Given the description of an element on the screen output the (x, y) to click on. 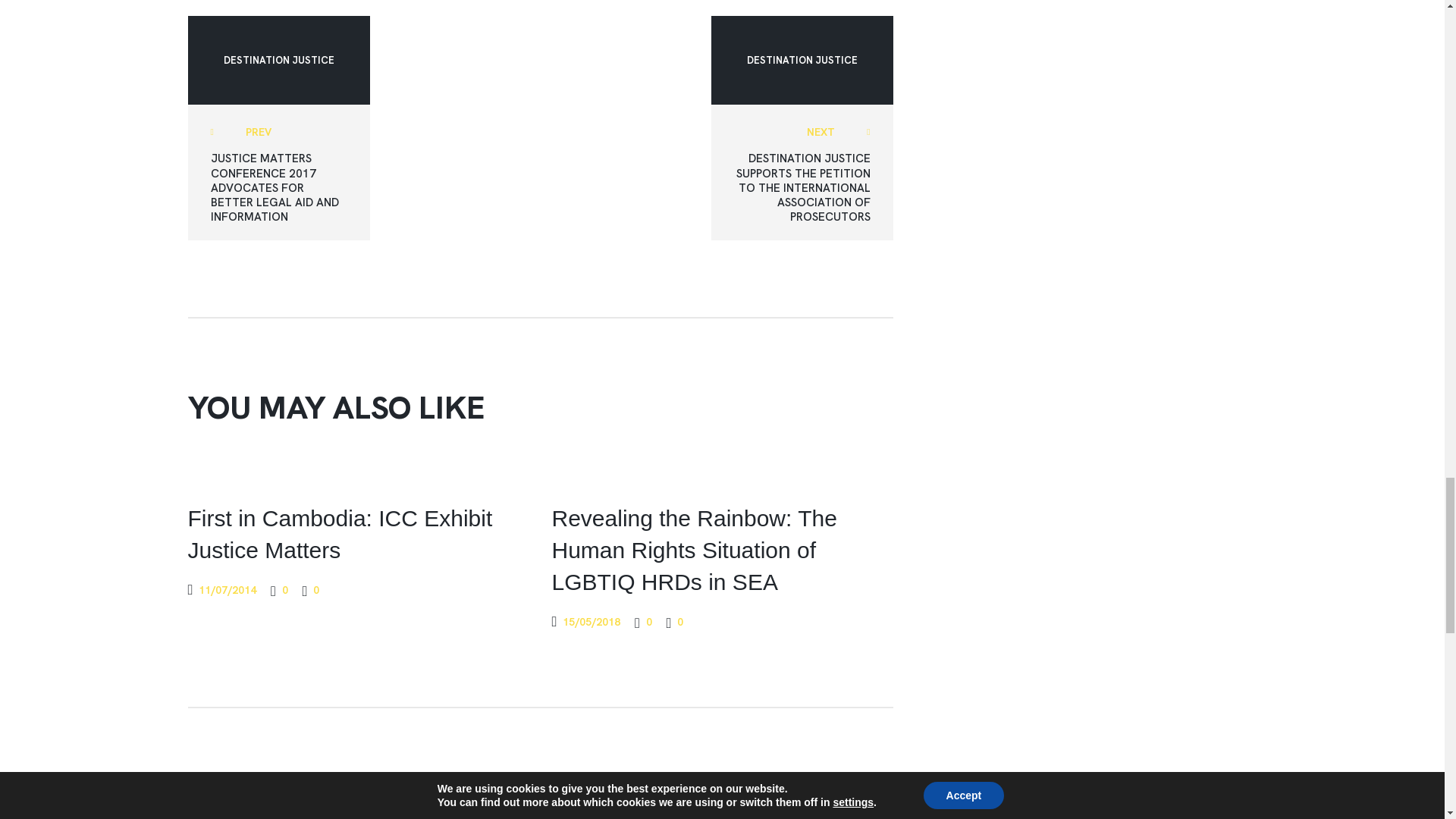
First in Cambodia: ICC Exhibit Justice Matters (358, 534)
0 (279, 590)
